Given the description of an element on the screen output the (x, y) to click on. 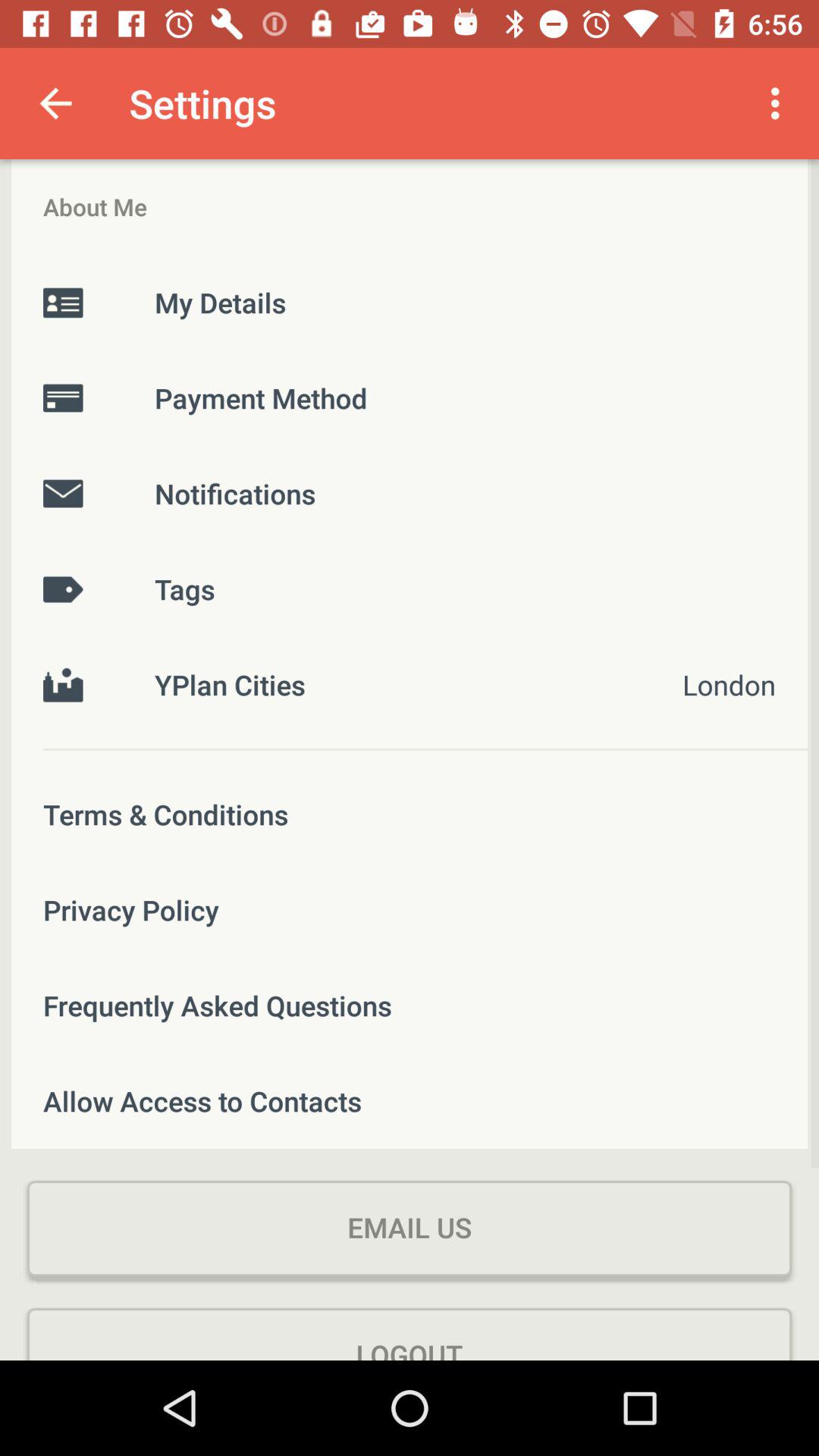
press item above frequently asked questions icon (409, 909)
